Given the description of an element on the screen output the (x, y) to click on. 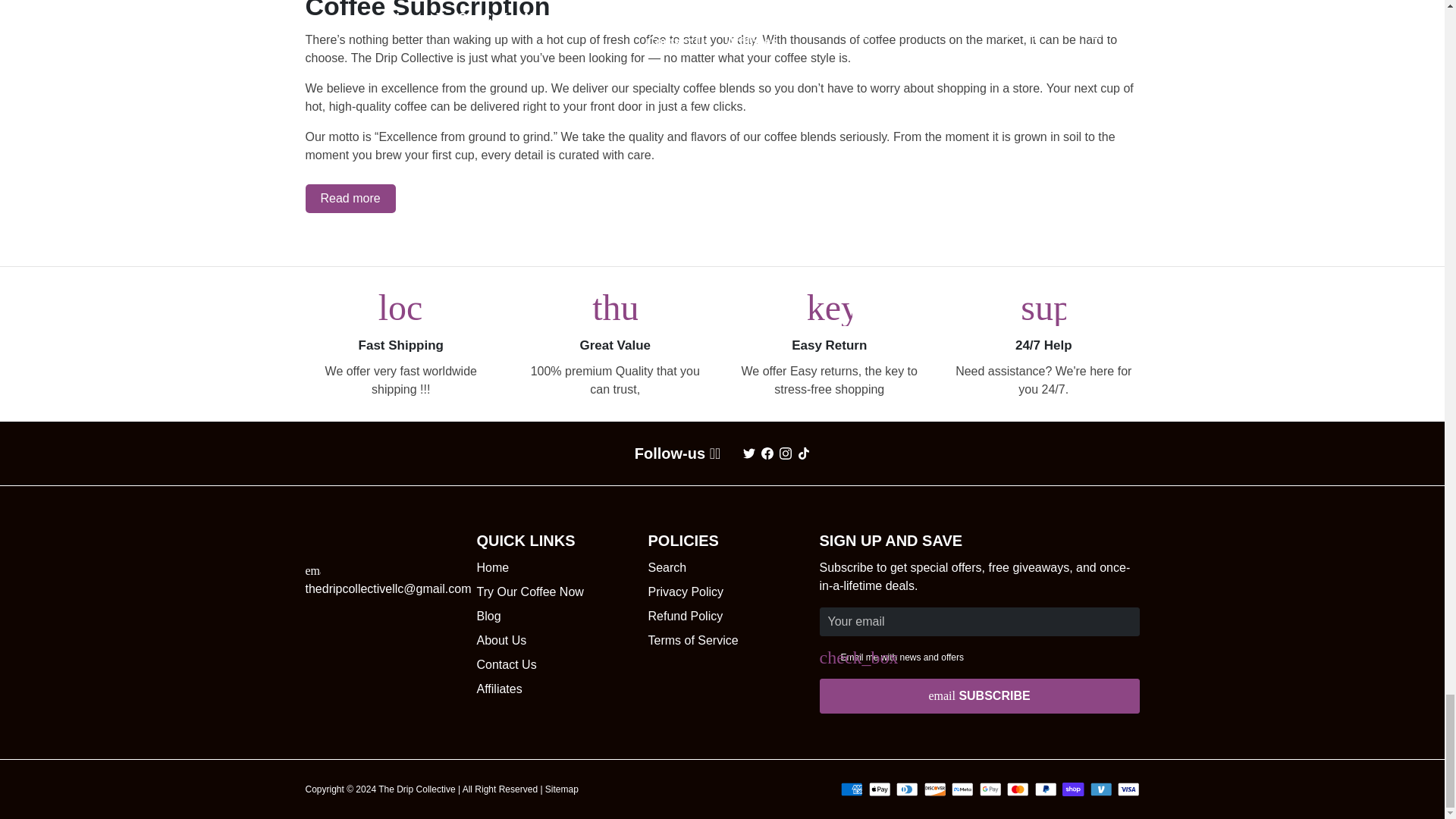
Mastercard (1018, 789)
Shop Pay (1073, 789)
Visa (1129, 789)
Google Pay (990, 789)
Meta Pay (962, 789)
PayPal (1044, 789)
American Express (851, 789)
Venmo (1101, 789)
Apple Pay (880, 789)
Discover (933, 789)
